Given the description of an element on the screen output the (x, y) to click on. 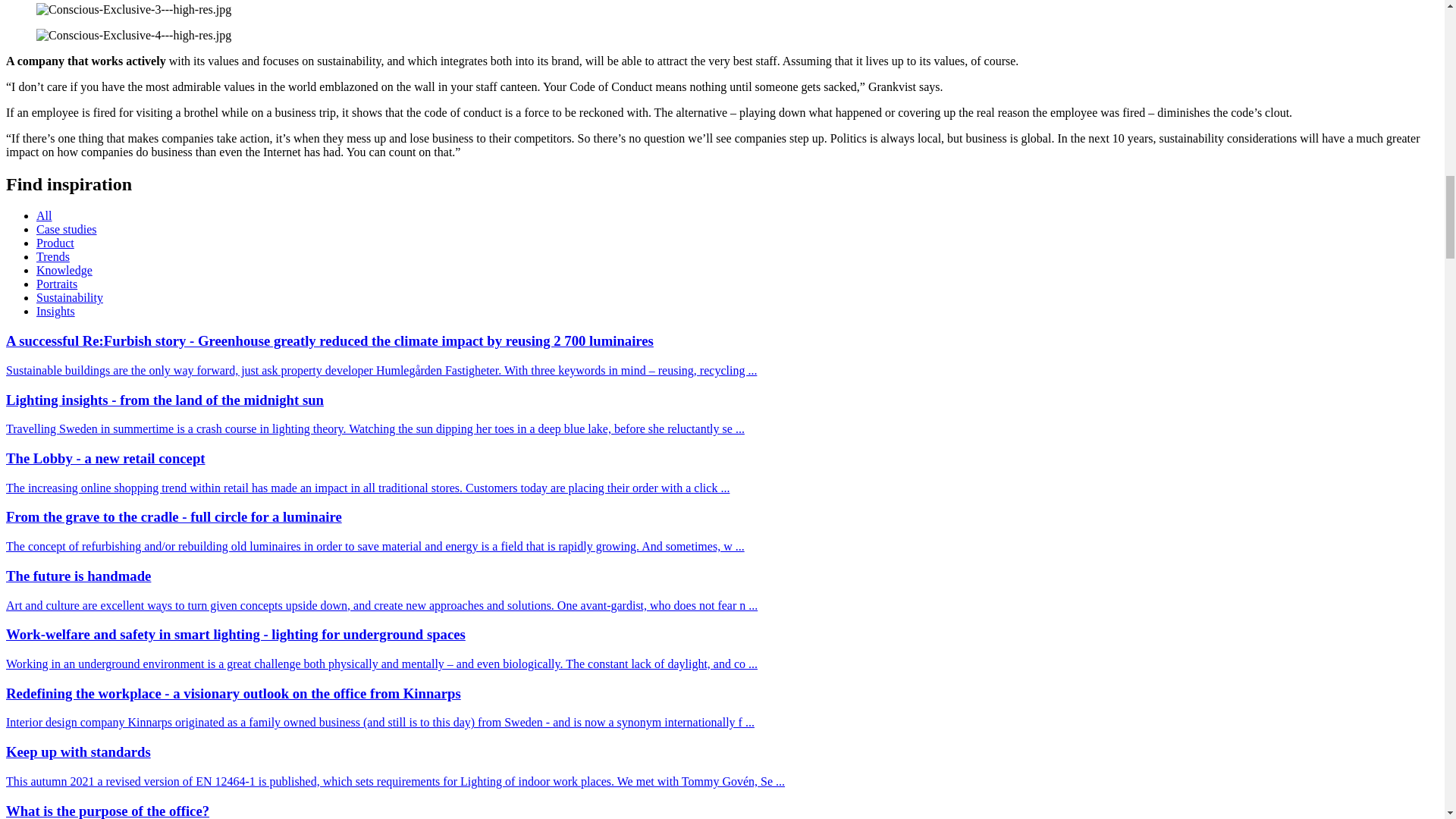
Insights (55, 310)
Portraits (56, 283)
Trends (52, 256)
Case studies (66, 228)
Product (55, 242)
Knowledge (64, 269)
All (43, 215)
Sustainability (69, 297)
